Given the description of an element on the screen output the (x, y) to click on. 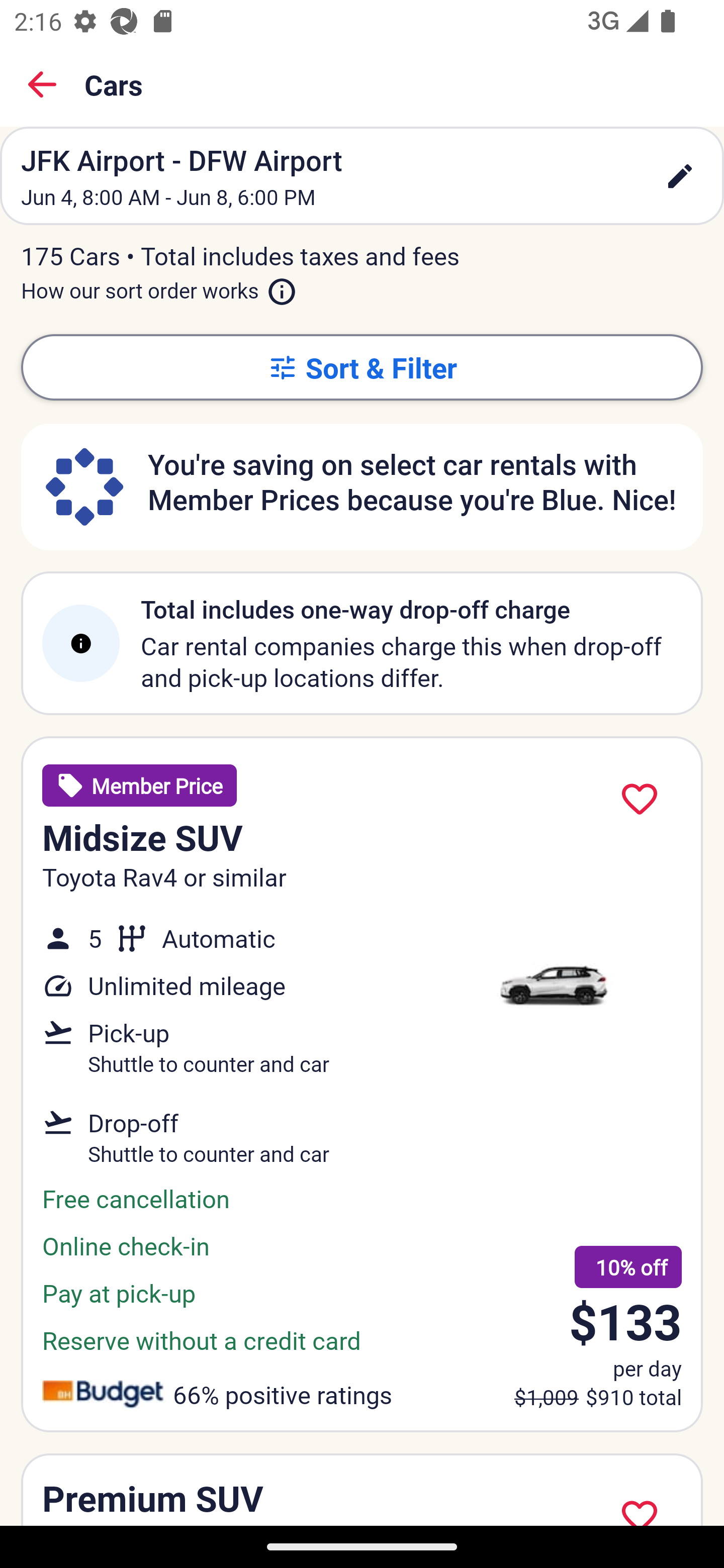
Back (42, 84)
edit (679, 175)
How our sort order works (158, 286)
Sort & Filter (361, 366)
